Given the description of an element on the screen output the (x, y) to click on. 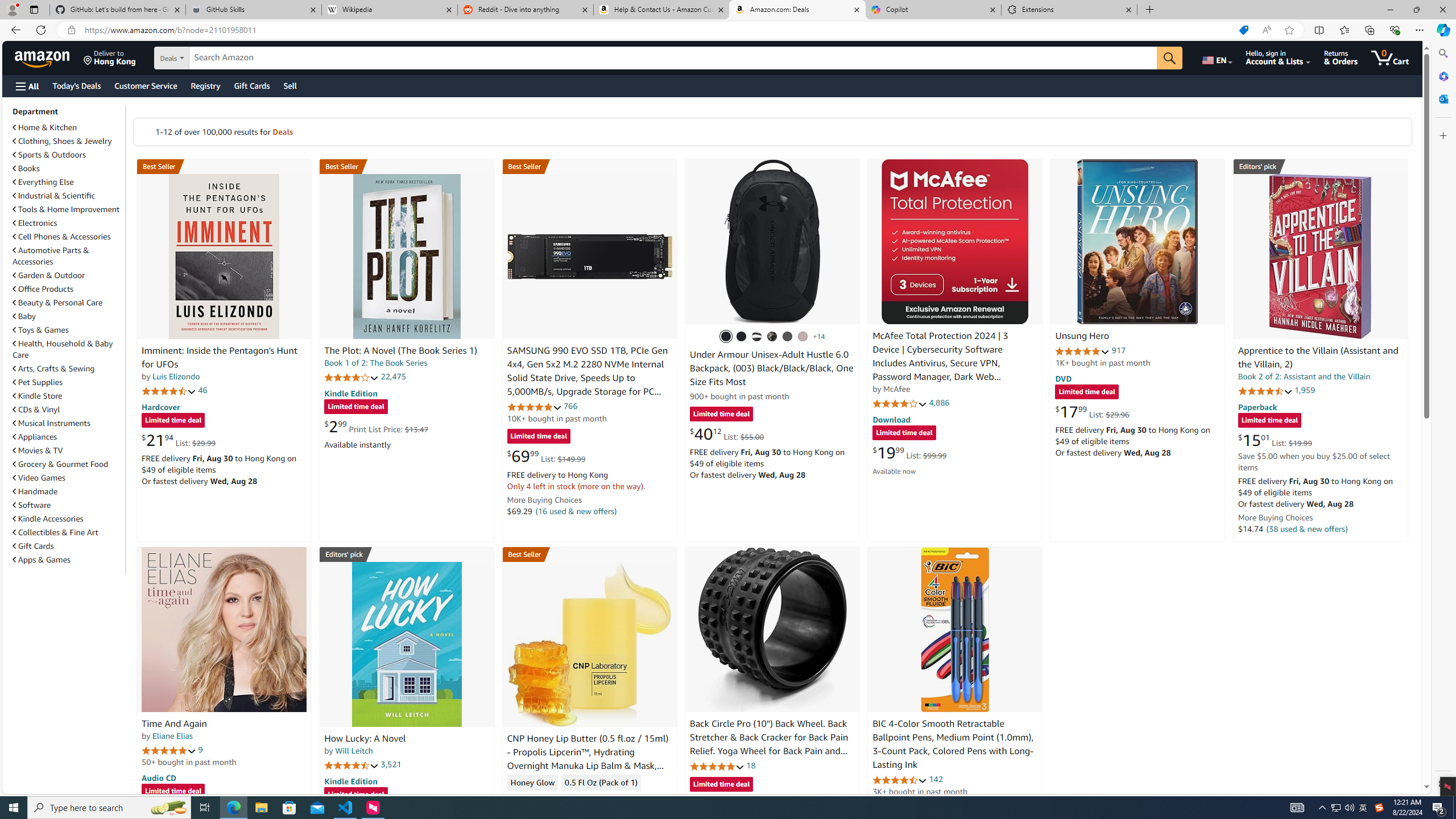
Gift Cards (67, 546)
Search in (210, 58)
4.9 out of 5 stars (1082, 351)
Video Games (39, 477)
Imminent: Inside the Pentagon's Hunt for UFOs (219, 358)
Unsung Hero (1082, 336)
Kindle Accessories (47, 518)
CDs & Vinyl (67, 409)
$17.99 List: $29.96 (1092, 411)
Unsung Hero (1137, 241)
Arts, Crafts & Sewing (67, 368)
